Given the description of an element on the screen output the (x, y) to click on. 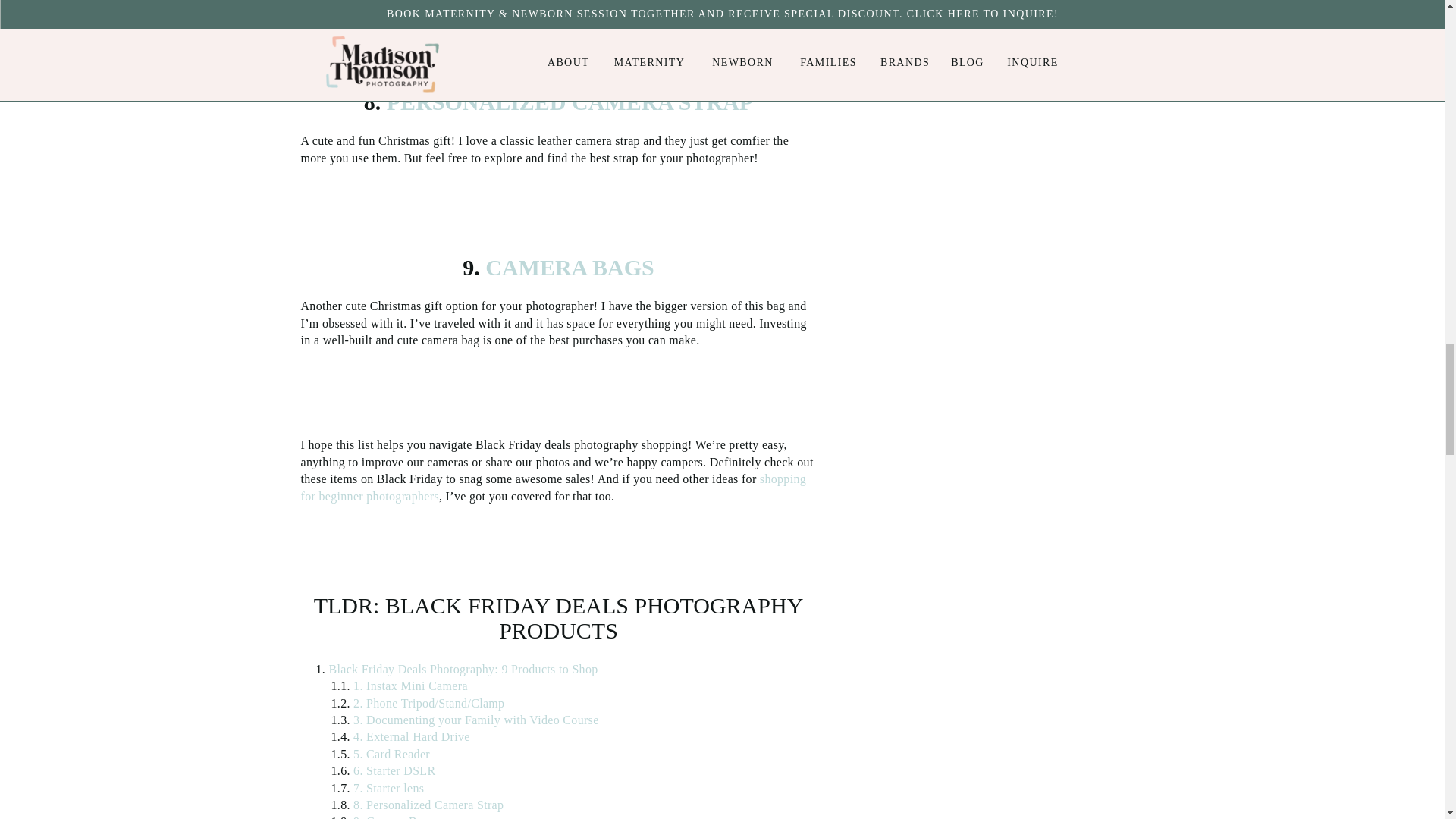
PERSONALIZED CAMERA STRAP (566, 101)
5. Card Reader (391, 753)
CAMERA BAGS (566, 267)
3. Documenting your Family with Video Course (475, 719)
Black Friday Deals Photography: 9 Products to Shop (462, 668)
shopping for beginner photographers (552, 487)
4. External Hard Drive (411, 736)
1. Instax Mini Camera (410, 685)
